Given the description of an element on the screen output the (x, y) to click on. 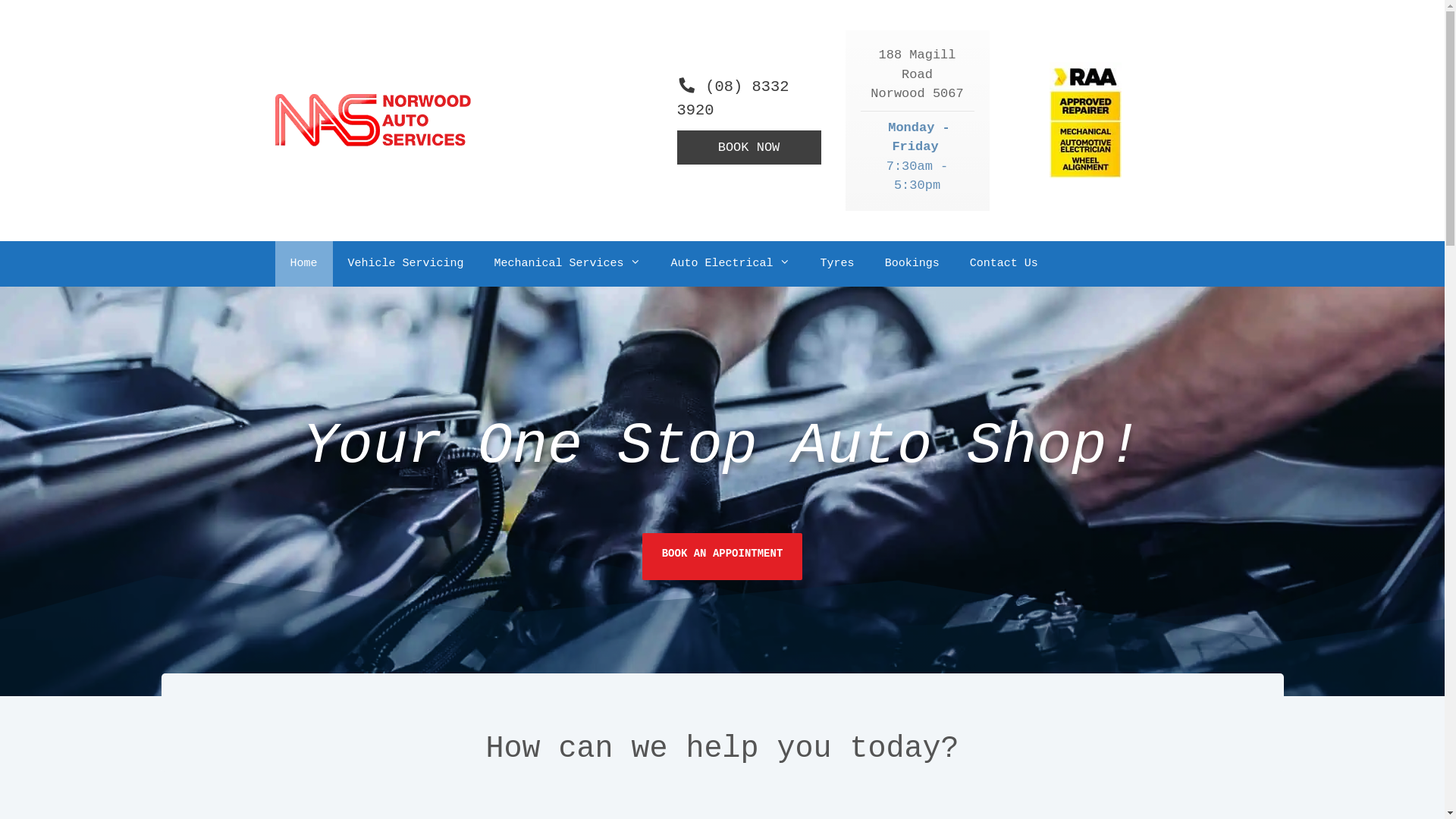
(08) 8332 3920 Element type: text (748, 98)
Auto Electrical Element type: text (730, 263)
Home Element type: text (303, 263)
BOOK AN APPOINTMENT Element type: text (722, 556)
Mechanical Services Element type: text (567, 263)
Vehicle Servicing Element type: text (405, 263)
Bookings Element type: text (911, 263)
BOOK NOW Element type: text (748, 147)
Contact Us Element type: text (1003, 263)
Tyres Element type: text (837, 263)
